Given the description of an element on the screen output the (x, y) to click on. 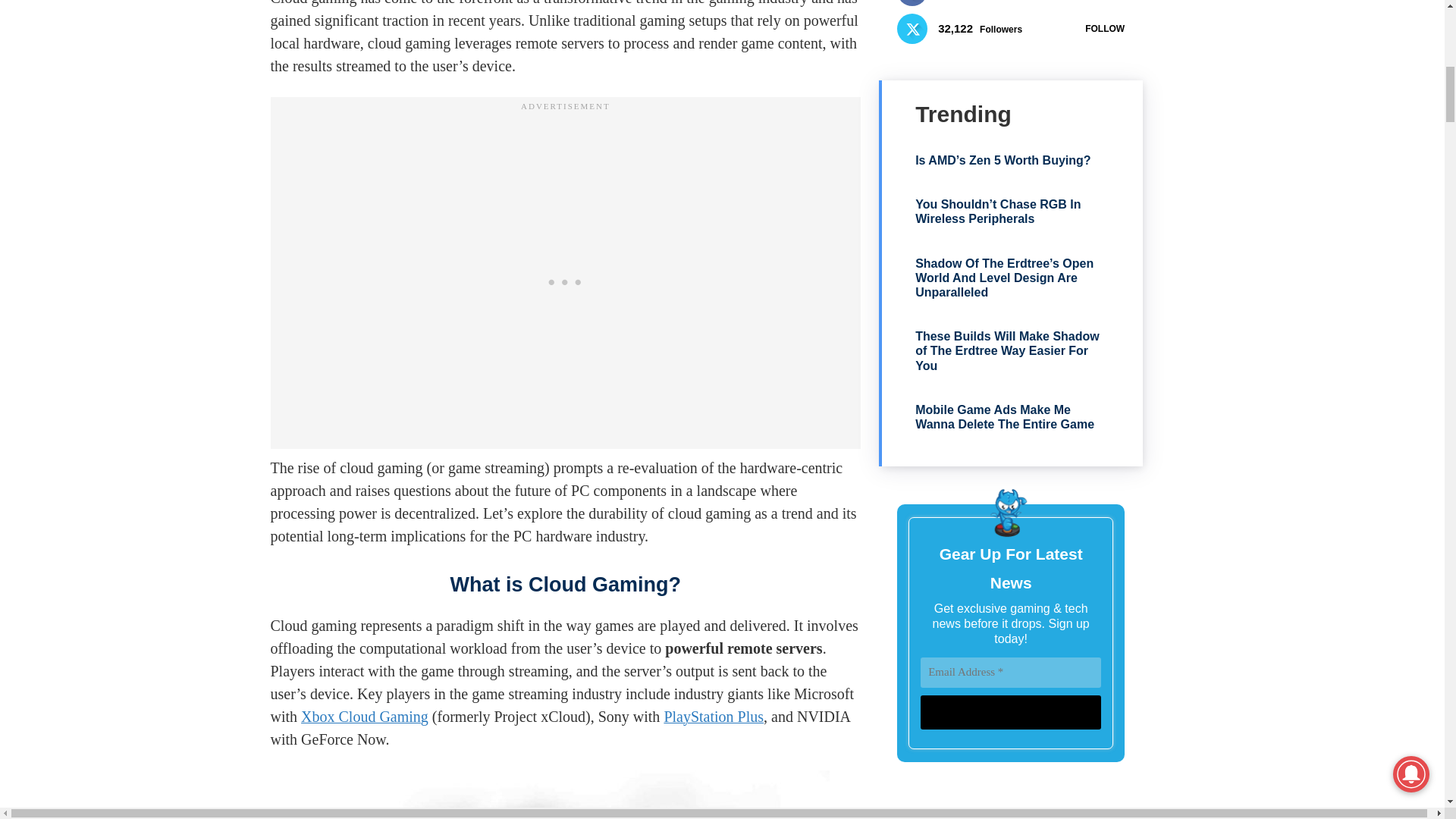
Subscribe! (1010, 712)
